Given the description of an element on the screen output the (x, y) to click on. 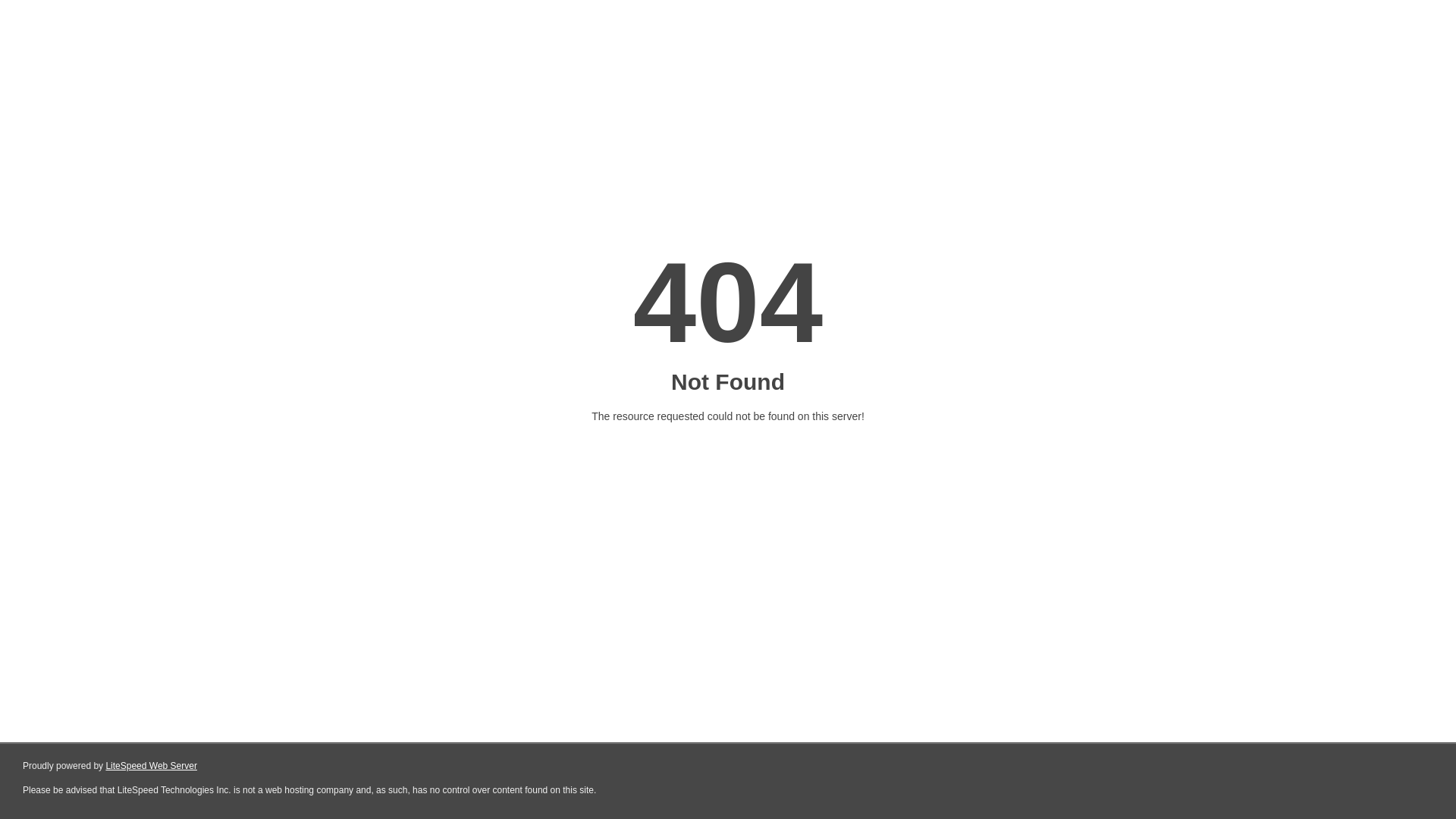
LiteSpeed Web Server Element type: text (151, 765)
